Given the description of an element on the screen output the (x, y) to click on. 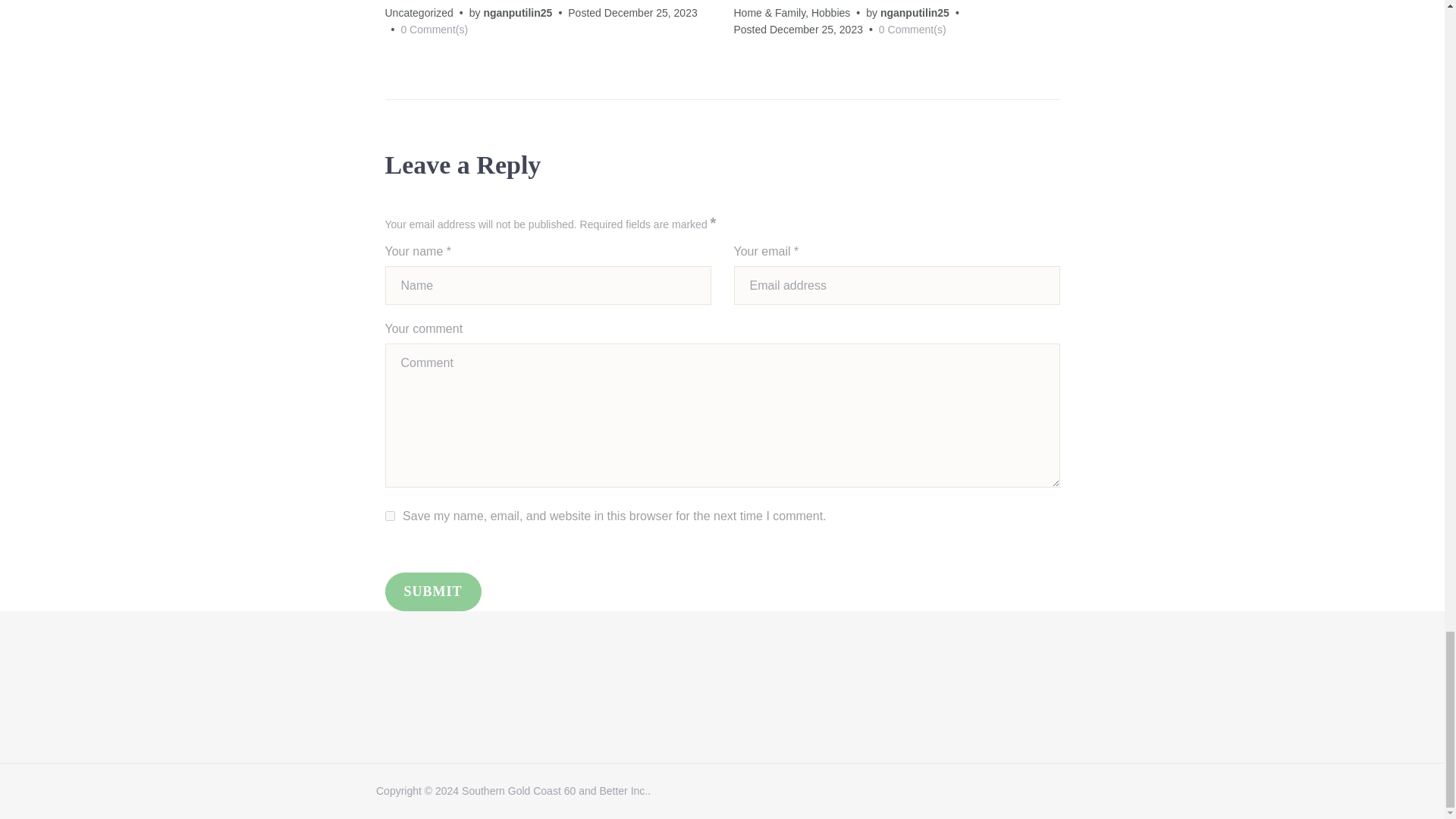
Submit (433, 591)
yes (389, 515)
nganputilin25 (914, 12)
December 25, 2023 (816, 29)
nganputilin25 (517, 12)
Uncategorized (418, 12)
December 25, 2023 (650, 12)
